Given the description of an element on the screen output the (x, y) to click on. 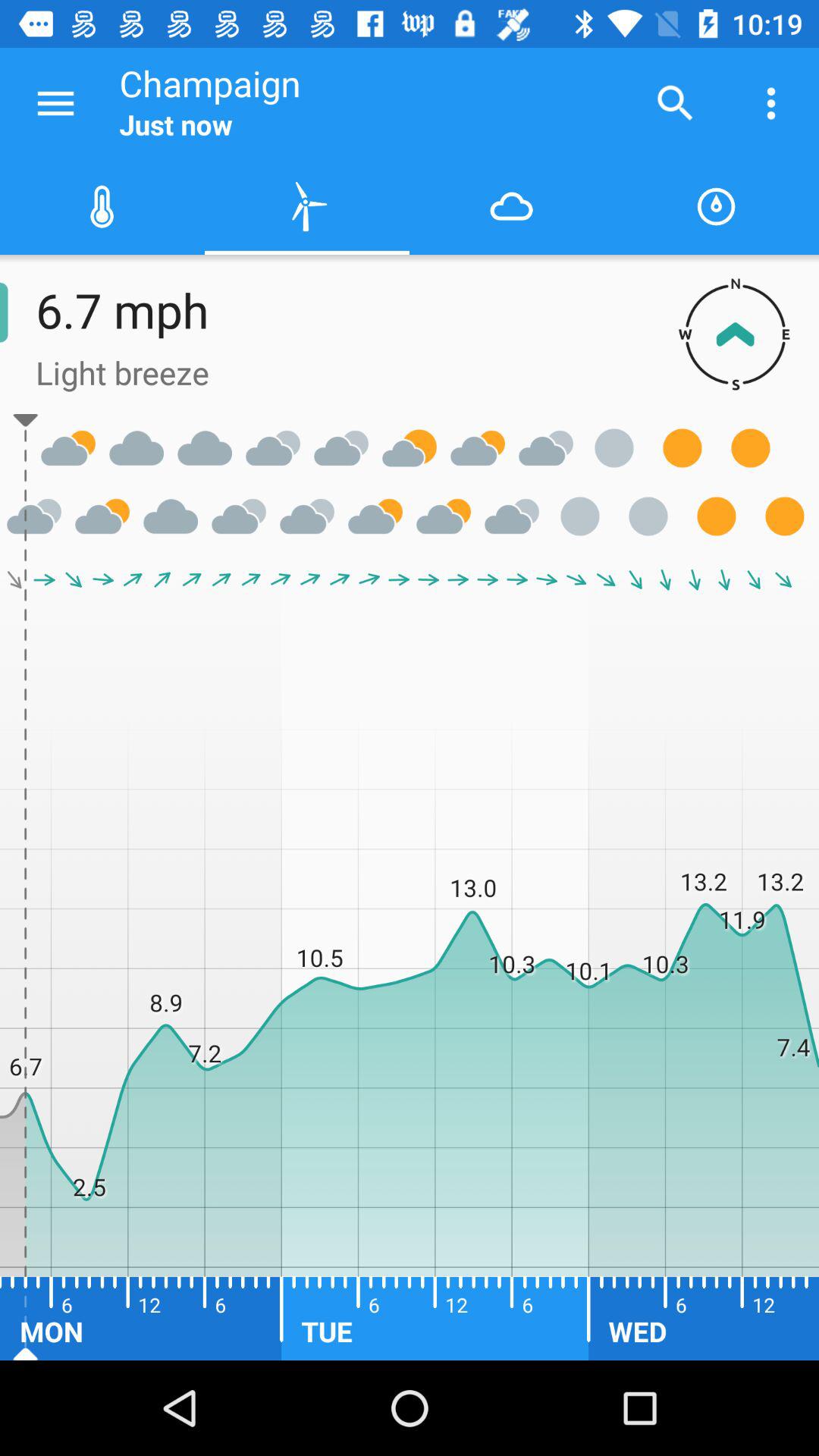
click the icon to the left of the champaign item (55, 103)
